Given the description of an element on the screen output the (x, y) to click on. 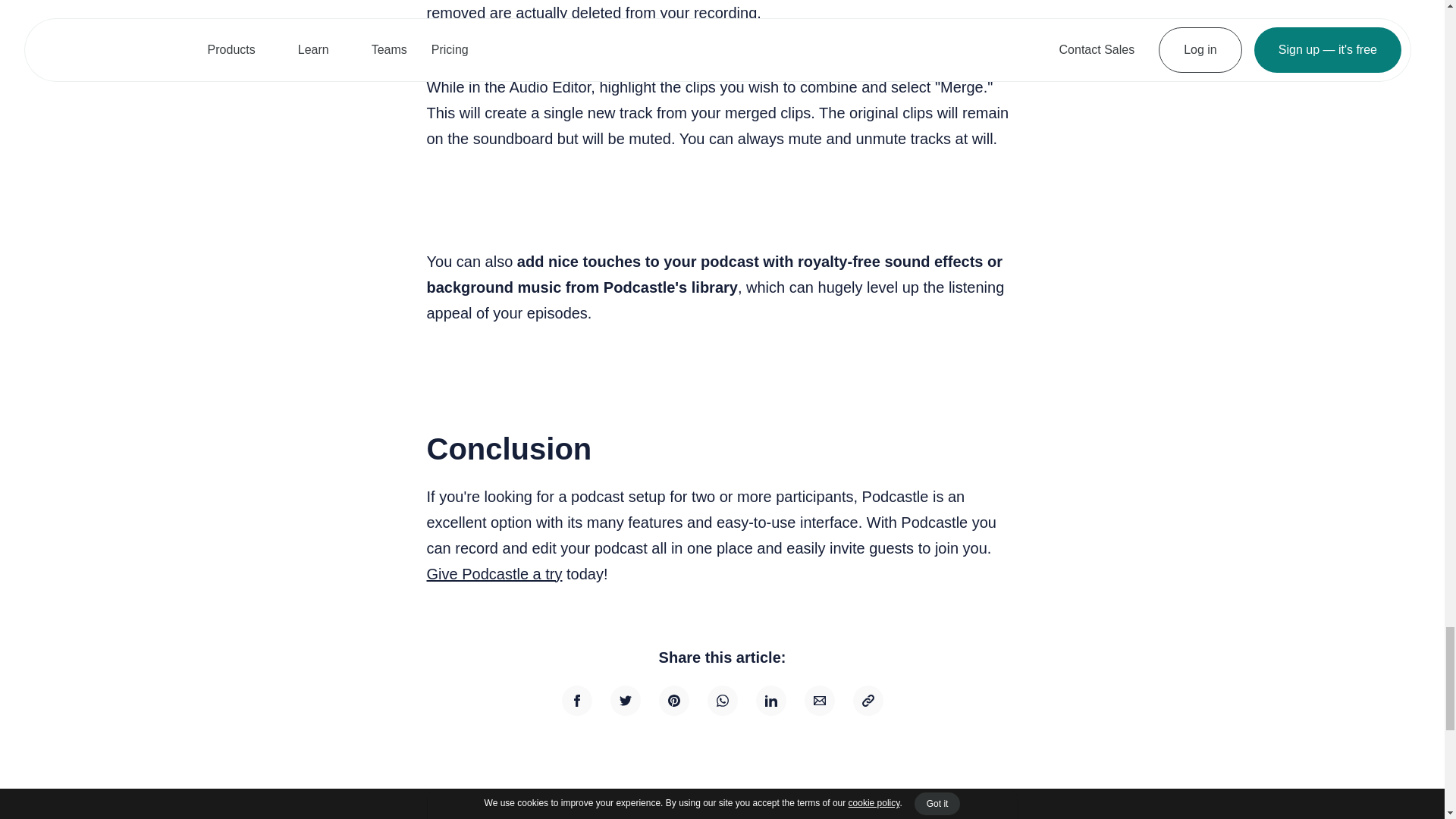
Share on Pinterest (673, 700)
Send via email (818, 700)
Share on Facebook (575, 700)
Copy the permalink (866, 700)
Share on Whatsapp (721, 700)
Give Podcastle a try (494, 573)
Share on Linkedin (770, 700)
Share on Twitter (625, 700)
